Given the description of an element on the screen output the (x, y) to click on. 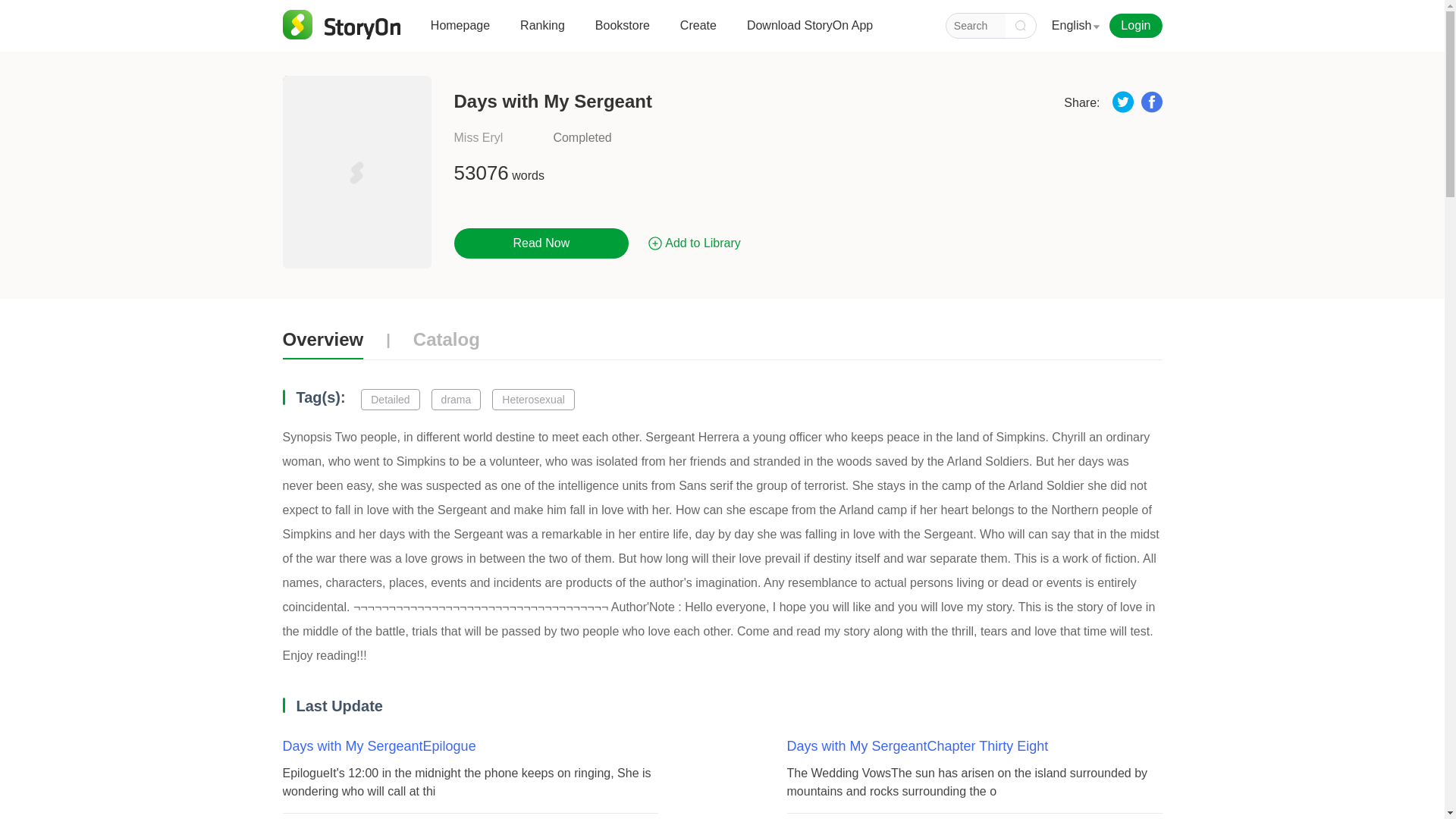
Read Now (540, 243)
Create (697, 31)
Bookstore (622, 31)
Ranking (541, 31)
Login (1135, 25)
Homepage (459, 31)
Download StoryOn App (809, 31)
Login (1131, 25)
